Given the description of an element on the screen output the (x, y) to click on. 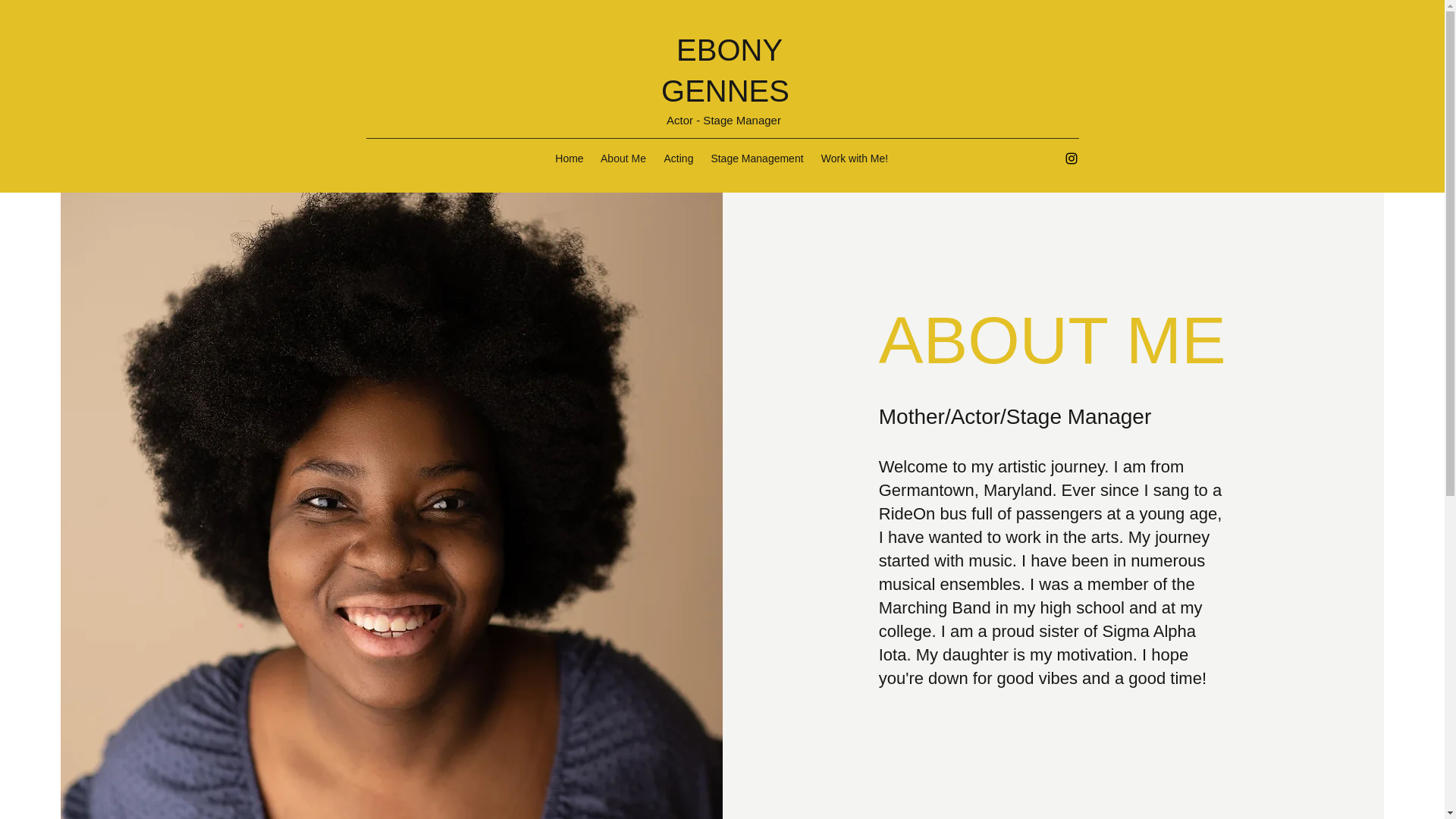
Acting (678, 158)
Home (569, 158)
About Me (623, 158)
Work with Me! (854, 158)
Stage Management (756, 158)
